Given the description of an element on the screen output the (x, y) to click on. 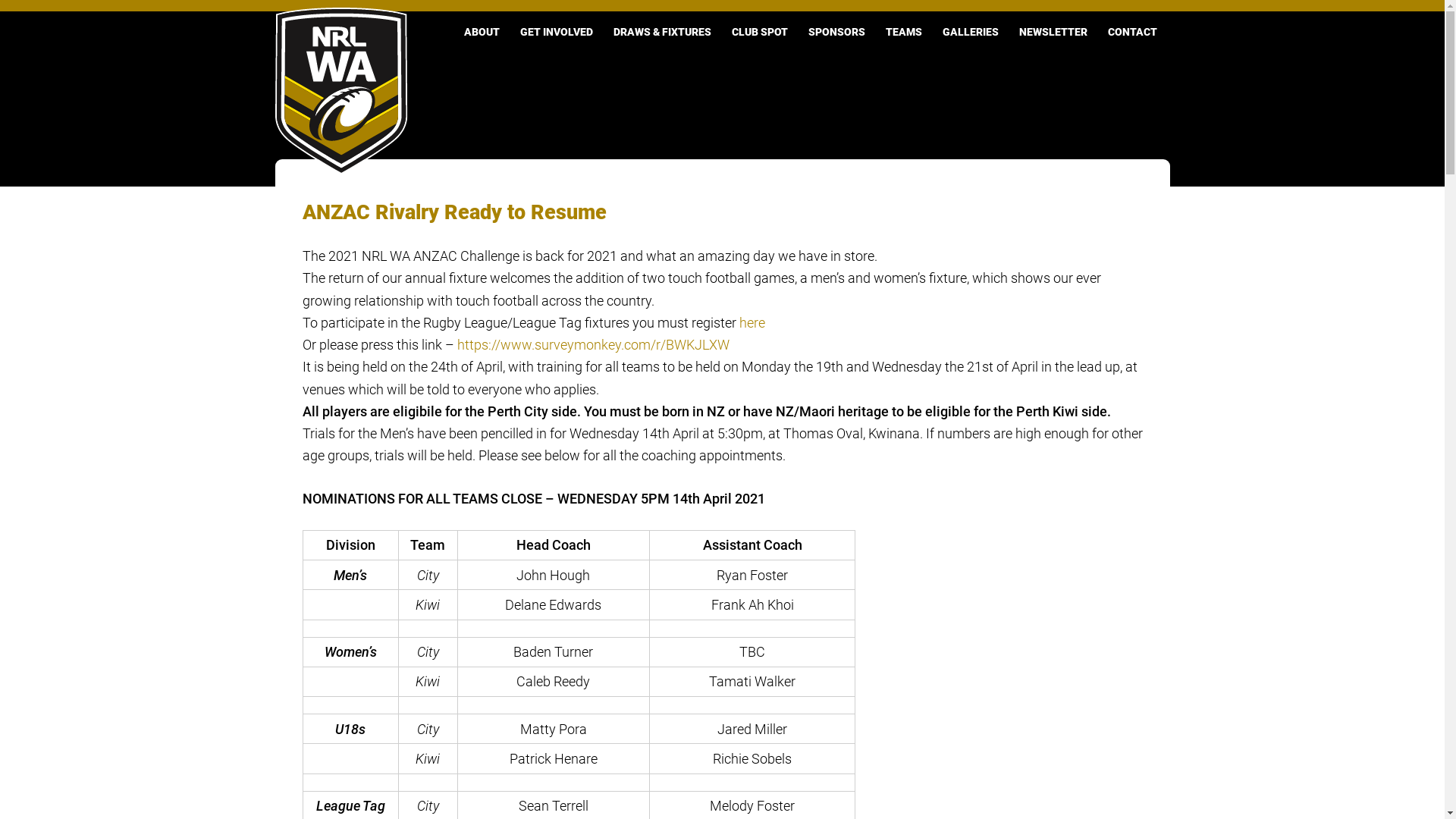
SPONSORS Element type: text (836, 31)
CLUB SPOT Element type: text (758, 31)
ANZAC Rivalry Ready to Resume Element type: text (453, 212)
GET INVOLVED Element type: text (556, 31)
GALLERIES Element type: text (969, 31)
DRAWS & FIXTURES Element type: text (661, 31)
ABOUT Element type: text (481, 31)
here Element type: text (751, 322)
TEAMS Element type: text (903, 31)
https://www.surveymonkey.com/r/BWKJLXW Element type: text (592, 344)
NEWSLETTER Element type: text (1053, 31)
CONTACT Element type: text (1131, 31)
